Given the description of an element on the screen output the (x, y) to click on. 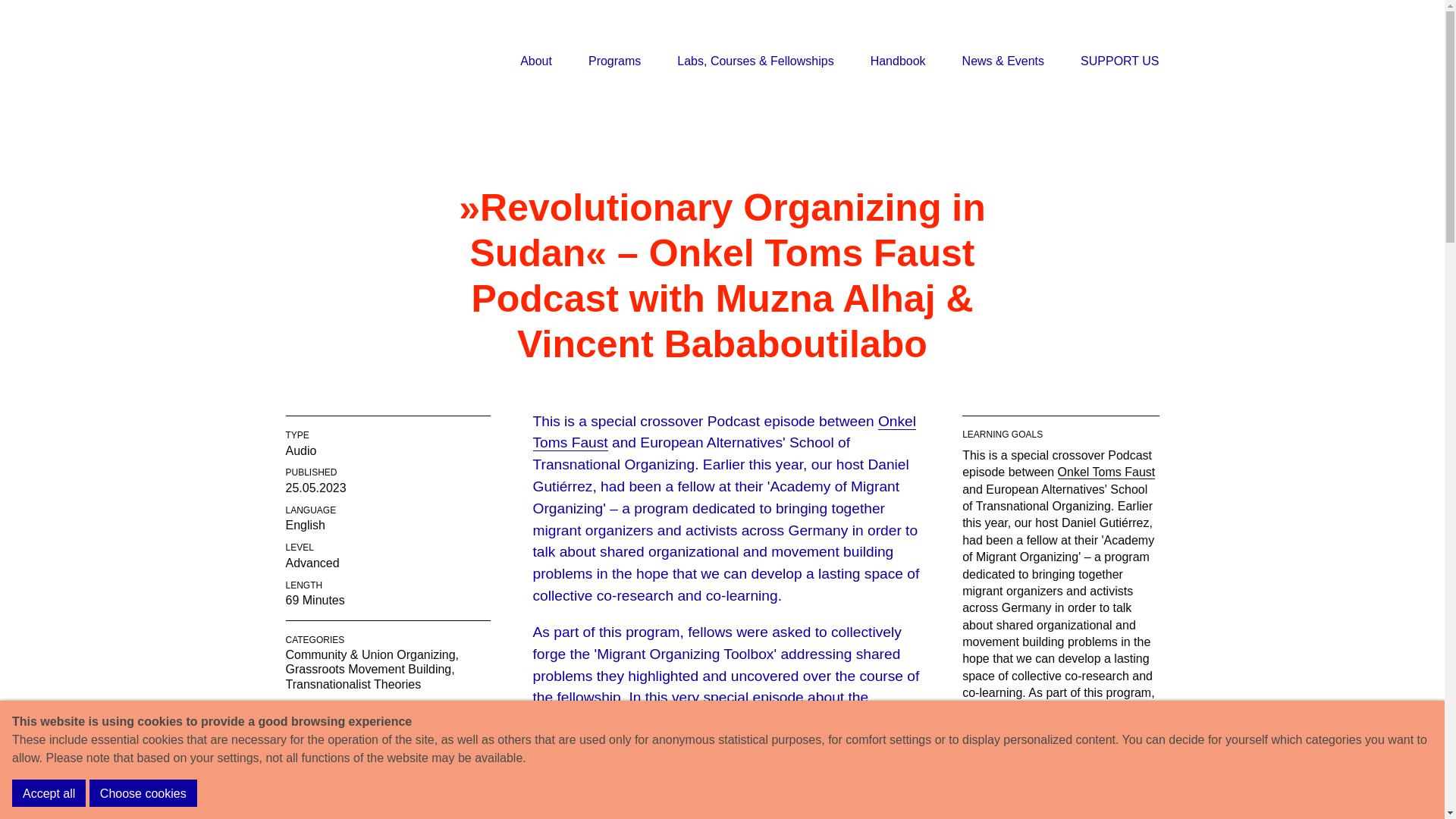
About (535, 61)
Vincent Bababoutilabo (387, 772)
Handbook (898, 61)
Programs (614, 61)
Onkel Toms Faust (723, 432)
SUPPORT US (1119, 61)
Onkel Toms Faust (1107, 472)
